Given the description of an element on the screen output the (x, y) to click on. 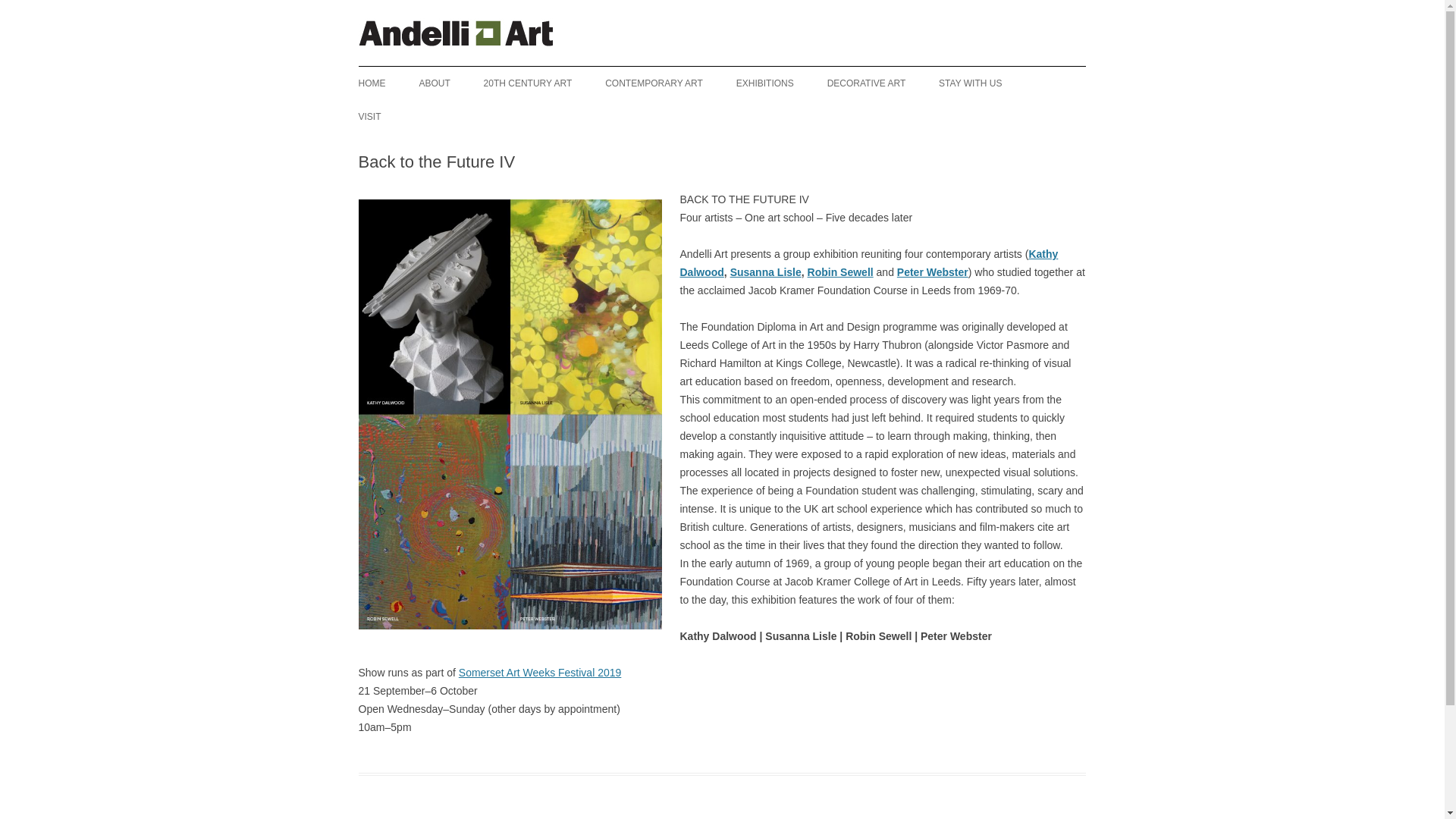
Somerset Art Weeks Festival 2019 (539, 672)
ABOUT (434, 82)
andelliart (457, 42)
Susanna Lisle (766, 272)
STAY WITH US (970, 82)
20TH CENTURY ART (527, 82)
Skip to content (757, 71)
Robin Sewell (840, 272)
Kathy Dalwood (868, 263)
EXHIBITIONS (764, 82)
Skip to content (757, 71)
CONTEMPORARY ART (654, 82)
Peter Webster (932, 272)
VISIT (369, 116)
HOME (371, 82)
